Given the description of an element on the screen output the (x, y) to click on. 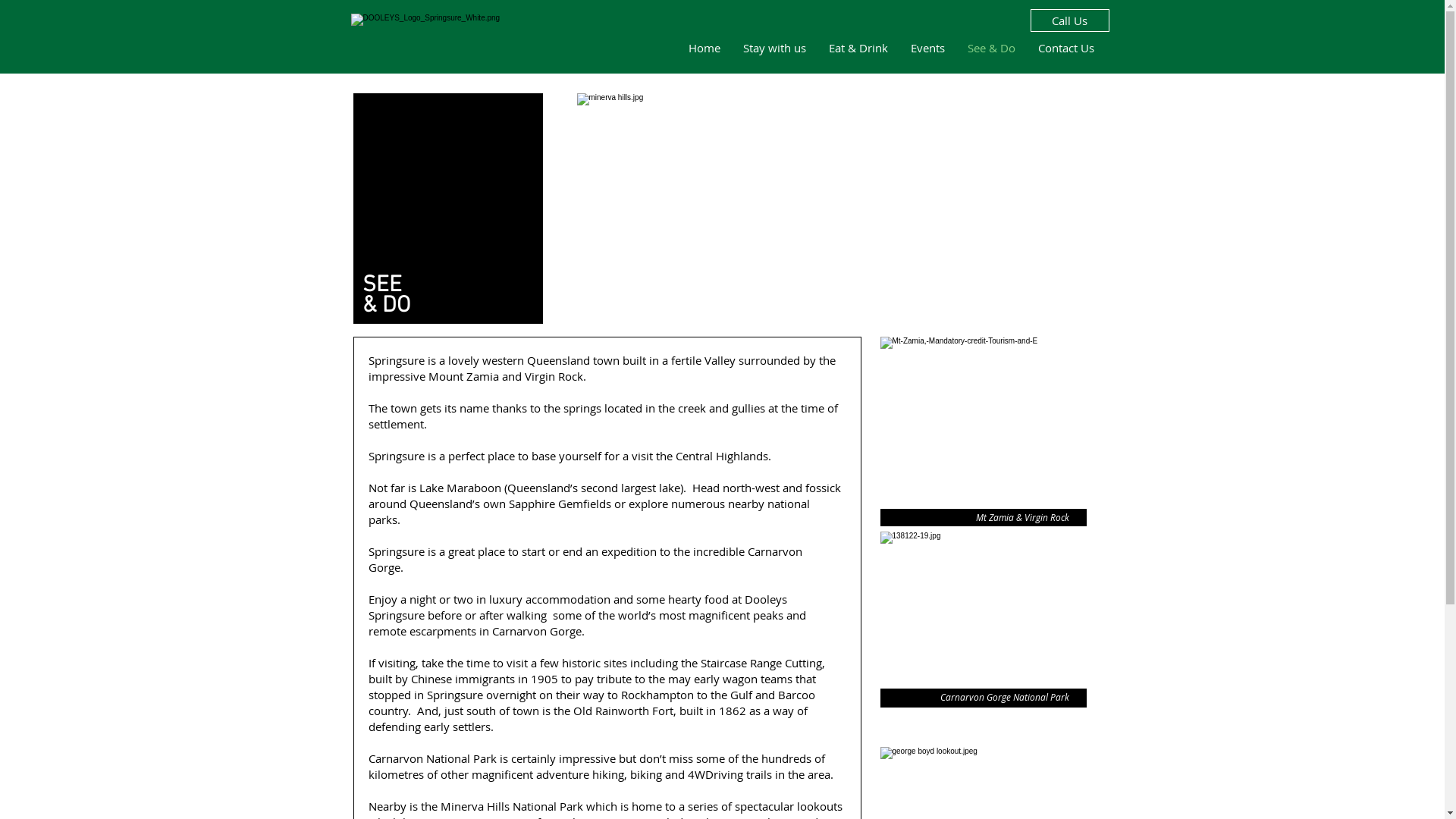
Home Element type: text (703, 47)
Stay with us Element type: text (773, 47)
Contact Us Element type: text (1065, 47)
Events Element type: text (927, 47)
Eat & Drink Element type: text (858, 47)
Call Us Element type: text (1068, 20)
See & Do Element type: text (990, 47)
